Given the description of an element on the screen output the (x, y) to click on. 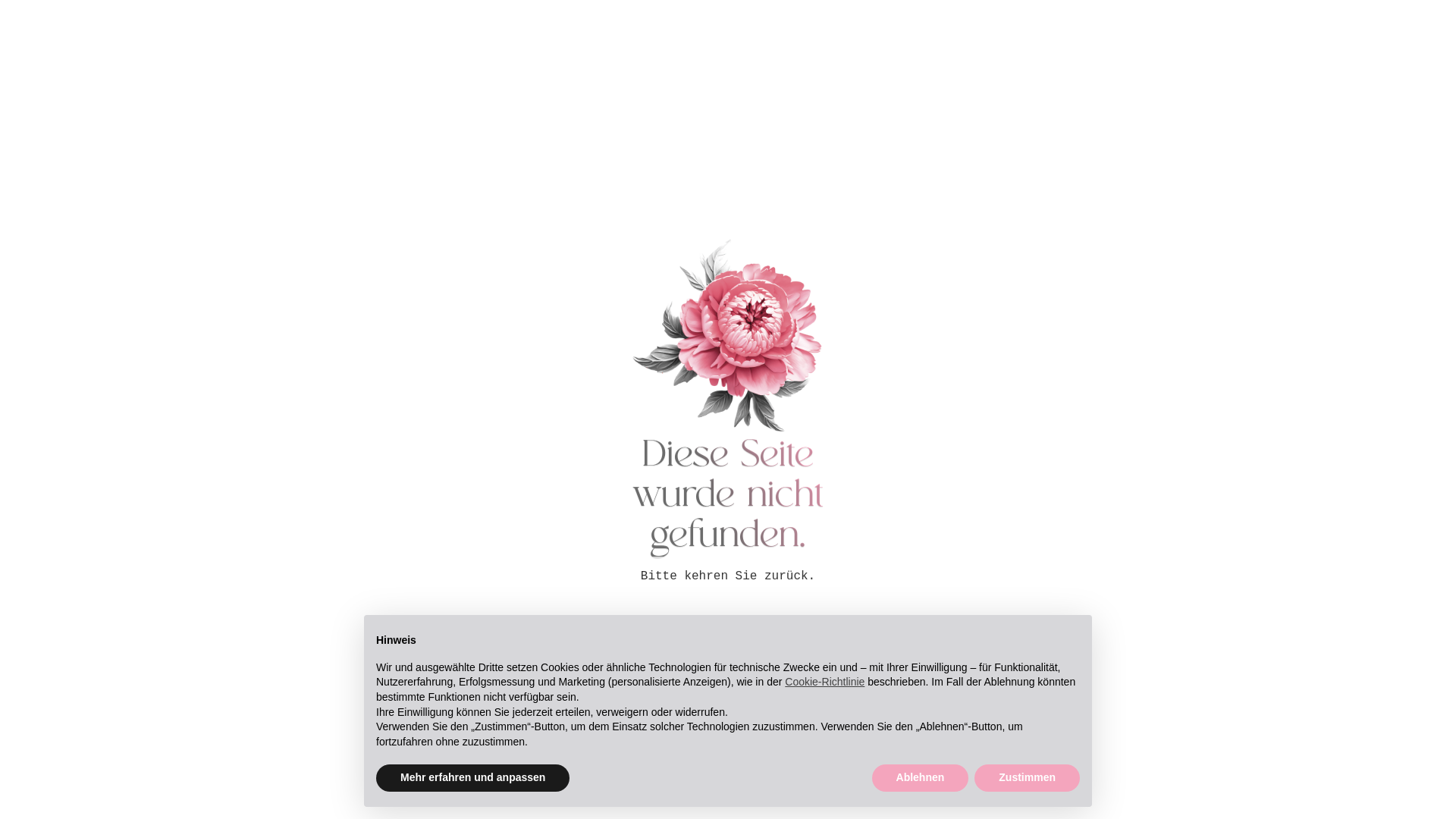
Ablehnen Element type: text (920, 777)
Cookie-Richtlinie Element type: text (824, 681)
Zustimmen Element type: text (1026, 777)
Mehr erfahren und anpassen Element type: text (472, 777)
